Given the description of an element on the screen output the (x, y) to click on. 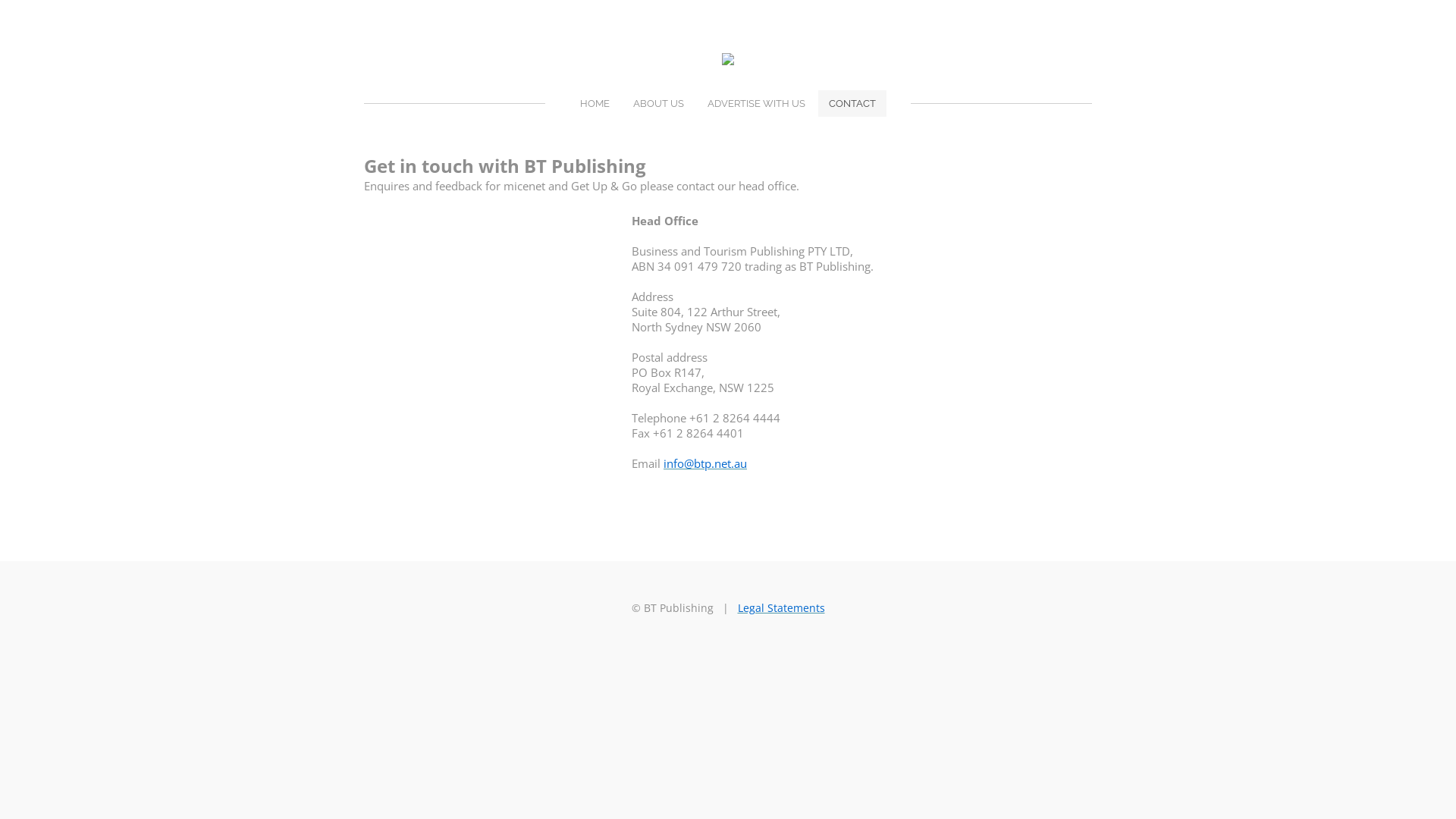
info@btp.net.au Element type: text (704, 462)
Legal Statements Element type: text (780, 607)
HOME Element type: text (594, 103)
ABOUT US Element type: text (658, 103)
ADVERTISE WITH US Element type: text (756, 103)
CONTACT Element type: text (851, 103)
